Given the description of an element on the screen output the (x, y) to click on. 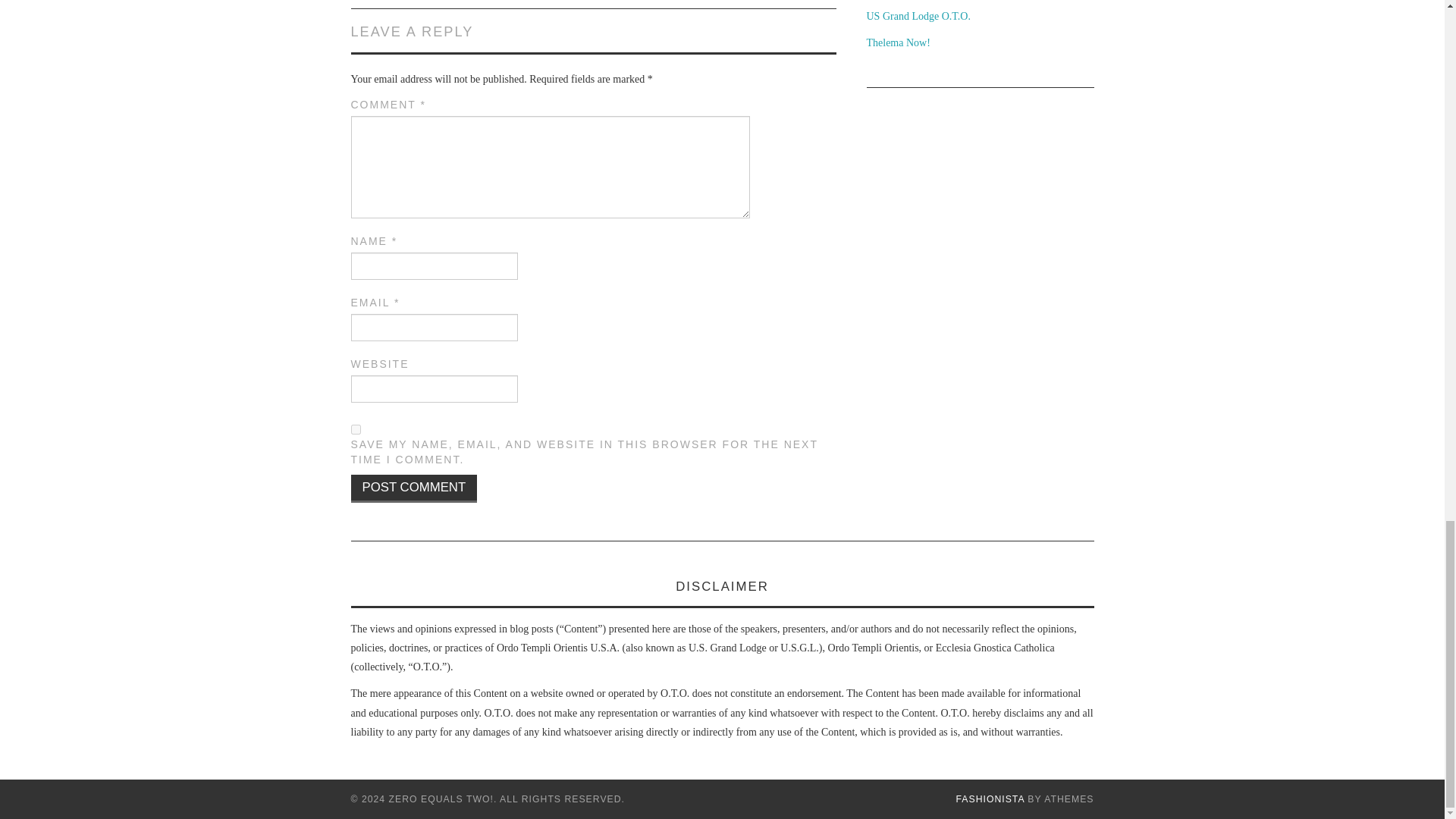
yes (354, 429)
Post Comment (413, 488)
Post Comment (413, 488)
